Given the description of an element on the screen output the (x, y) to click on. 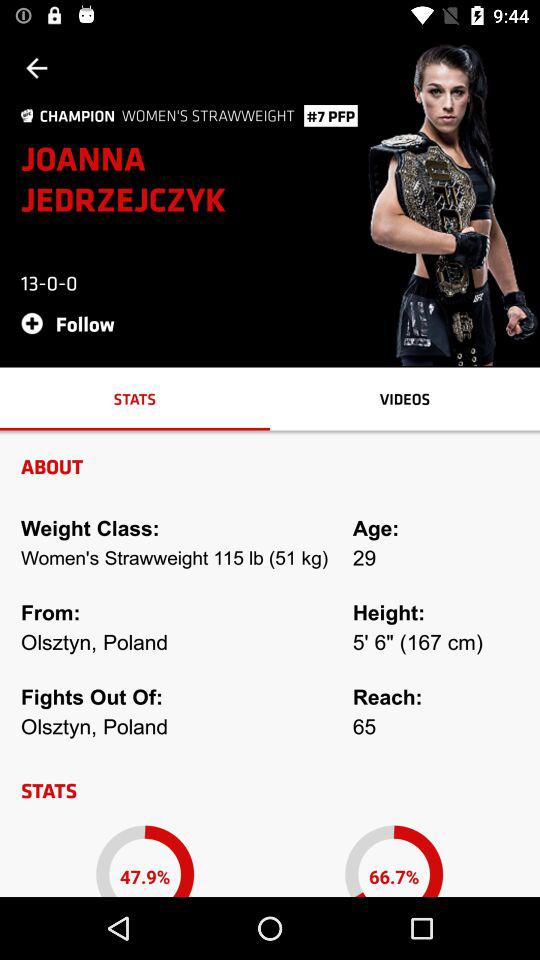
choose icon below 13-0-0 item (74, 322)
